Given the description of an element on the screen output the (x, y) to click on. 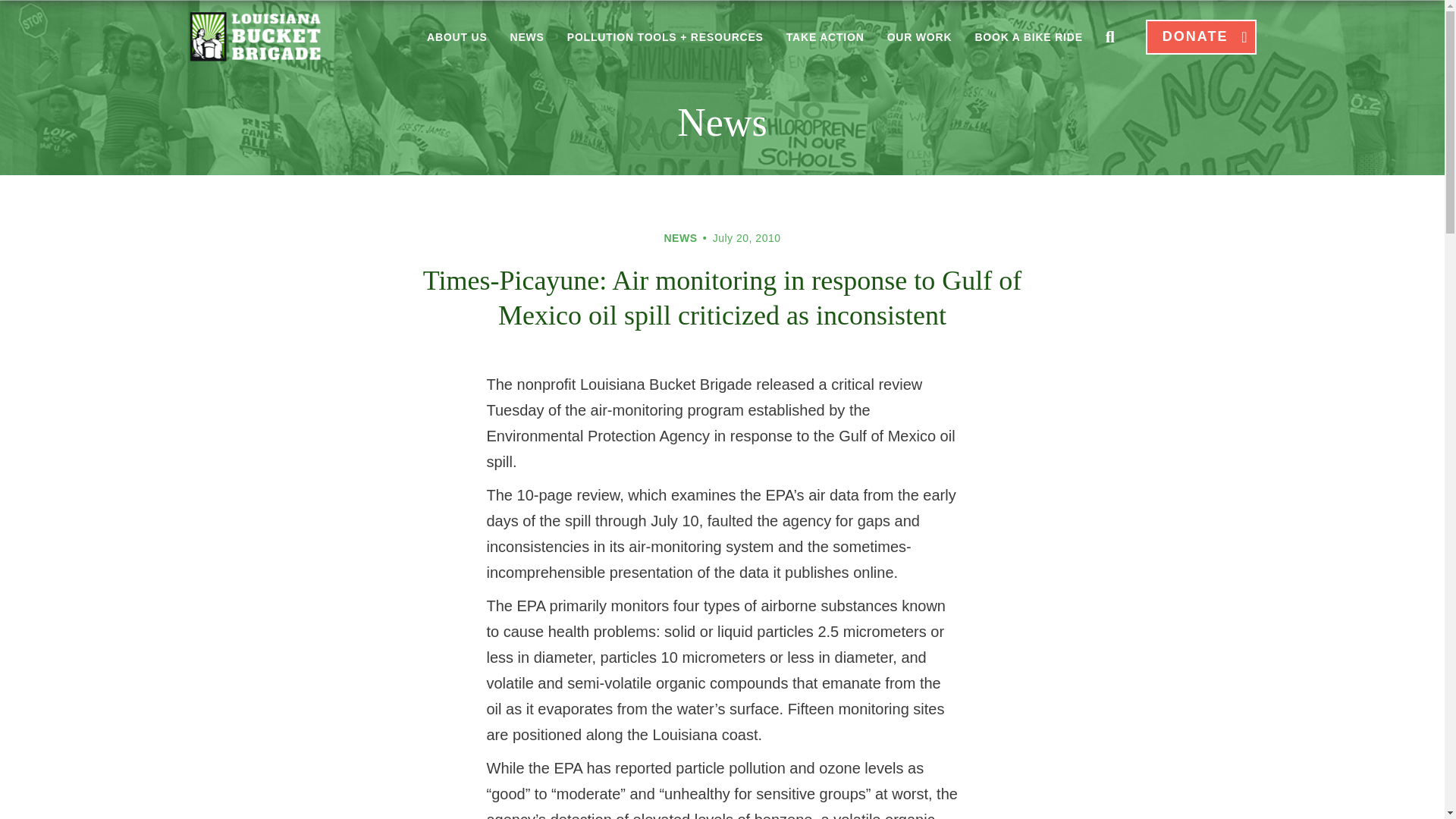
OUR WORK (919, 40)
DONATE (1200, 36)
NEWS (527, 40)
Link to the Take Action page (825, 40)
ABOUT US (456, 40)
Link to About Us page (456, 40)
BOOK A BIKE RIDE (1027, 37)
Link to our News page (527, 40)
TAKE ACTION (825, 40)
Click to Go Home (254, 37)
